Given the description of an element on the screen output the (x, y) to click on. 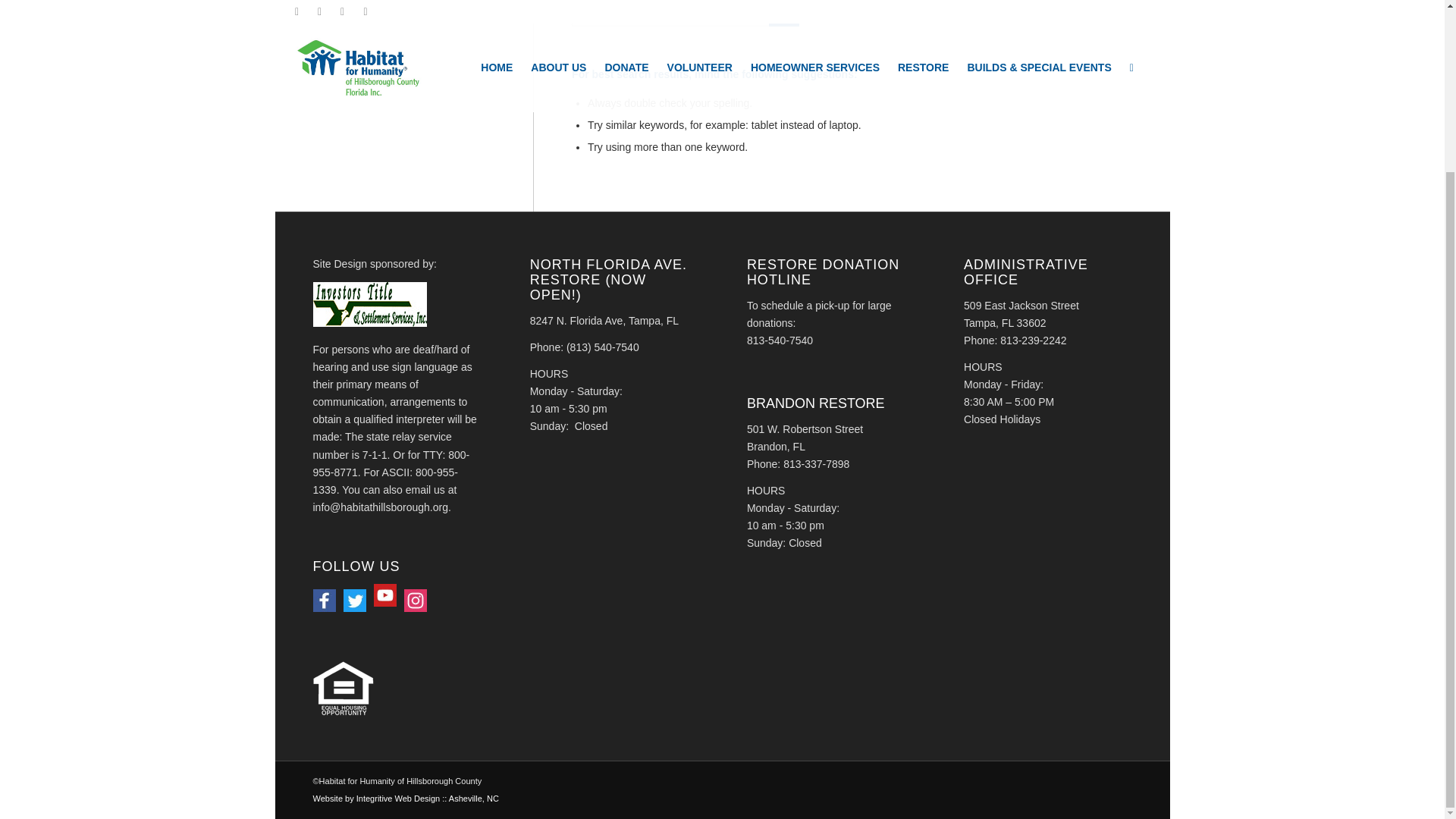
Click to start search (783, 13)
